Given the description of an element on the screen output the (x, y) to click on. 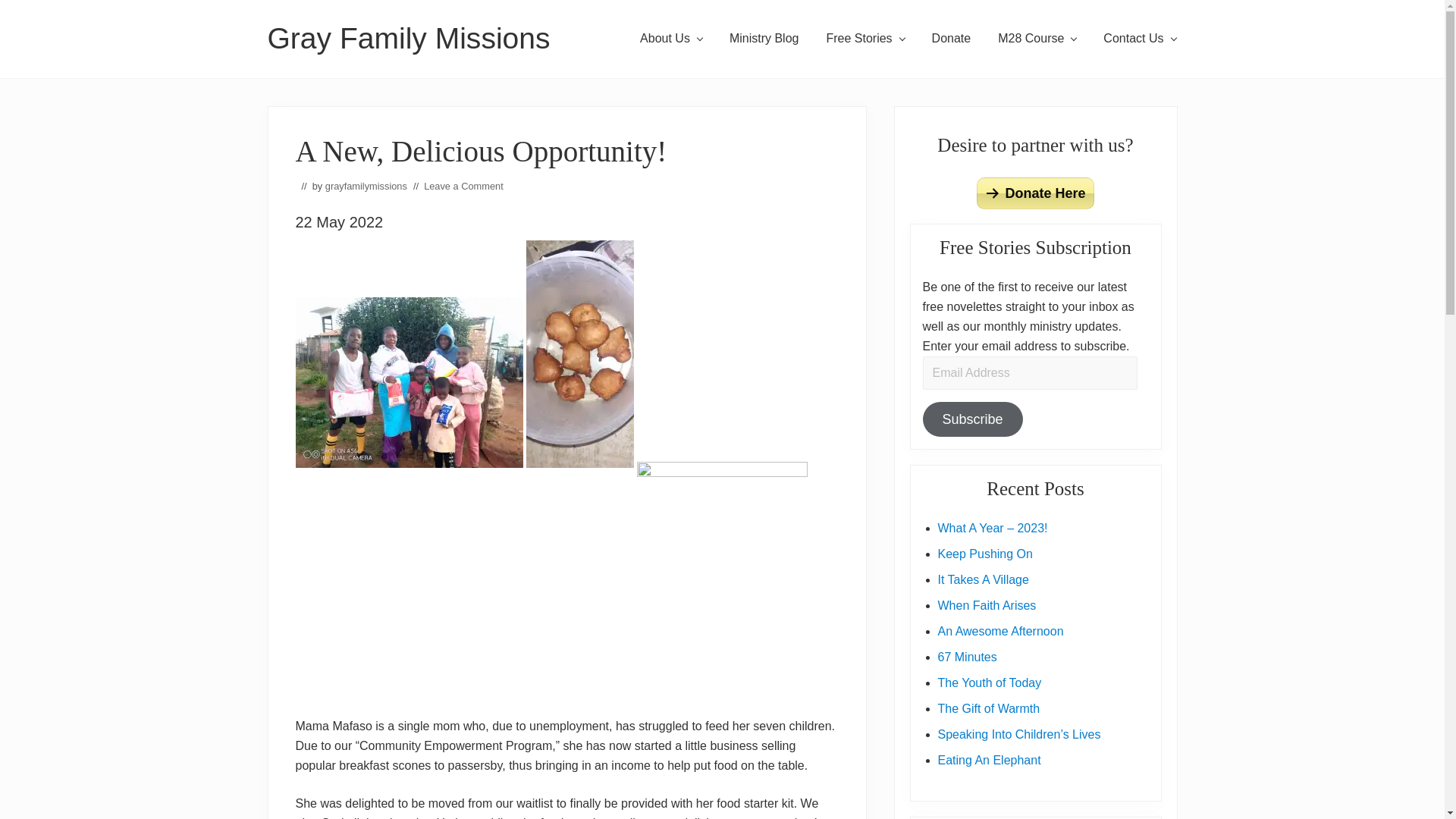
M28 Course (1036, 38)
Free Stories (864, 38)
Donate (952, 38)
Gray Family Missions (408, 38)
Leave a Comment (463, 185)
Ministry Blog (763, 38)
About Us (670, 38)
